Given the description of an element on the screen output the (x, y) to click on. 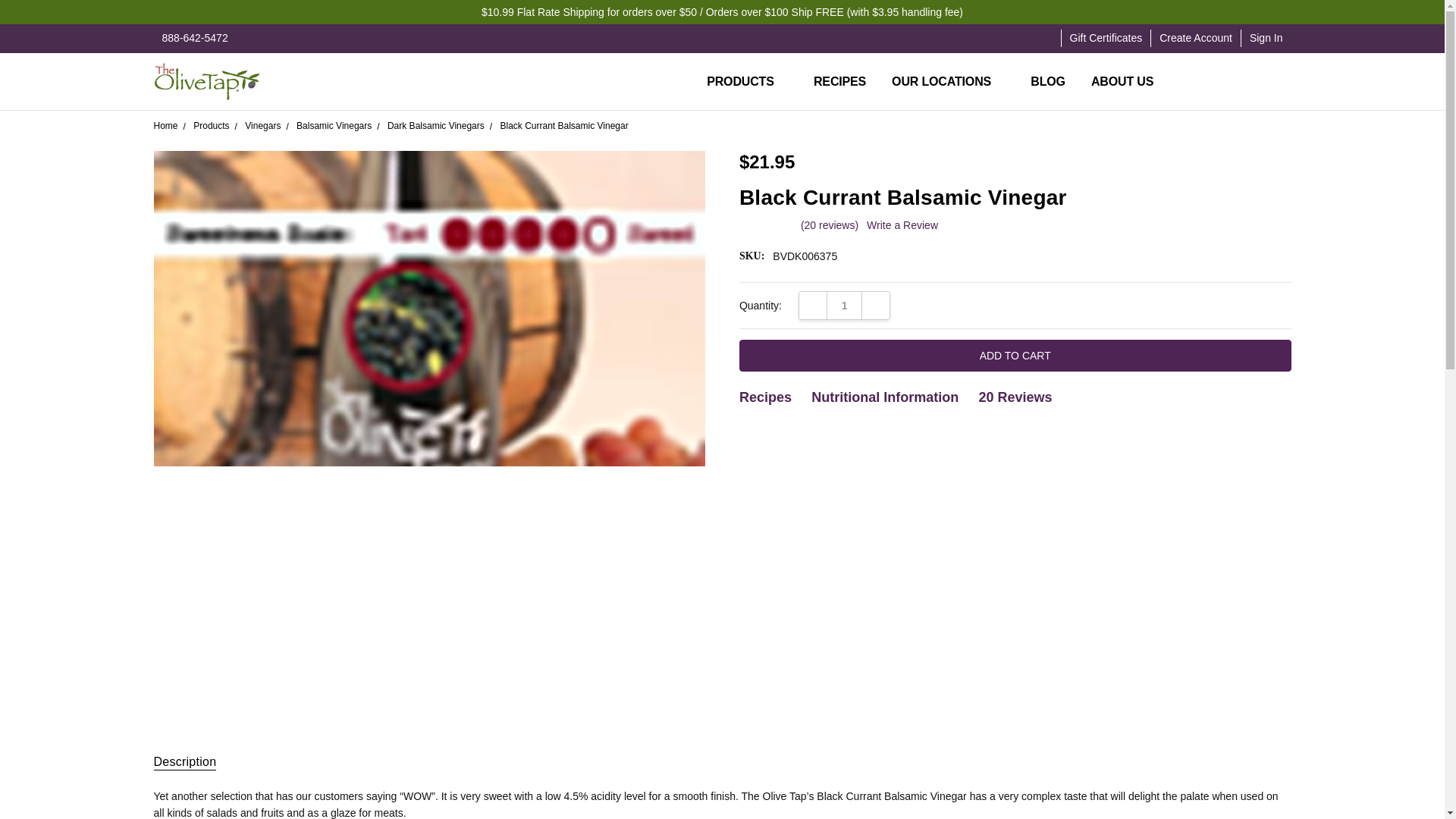
Add to Cart (1015, 355)
Gift Certificates (1106, 37)
888-642-5472 (193, 37)
PRODUCTS (747, 81)
Create Account (1195, 37)
The Olive Tap (206, 81)
1 (844, 305)
Sign In (1266, 37)
